Given the description of an element on the screen output the (x, y) to click on. 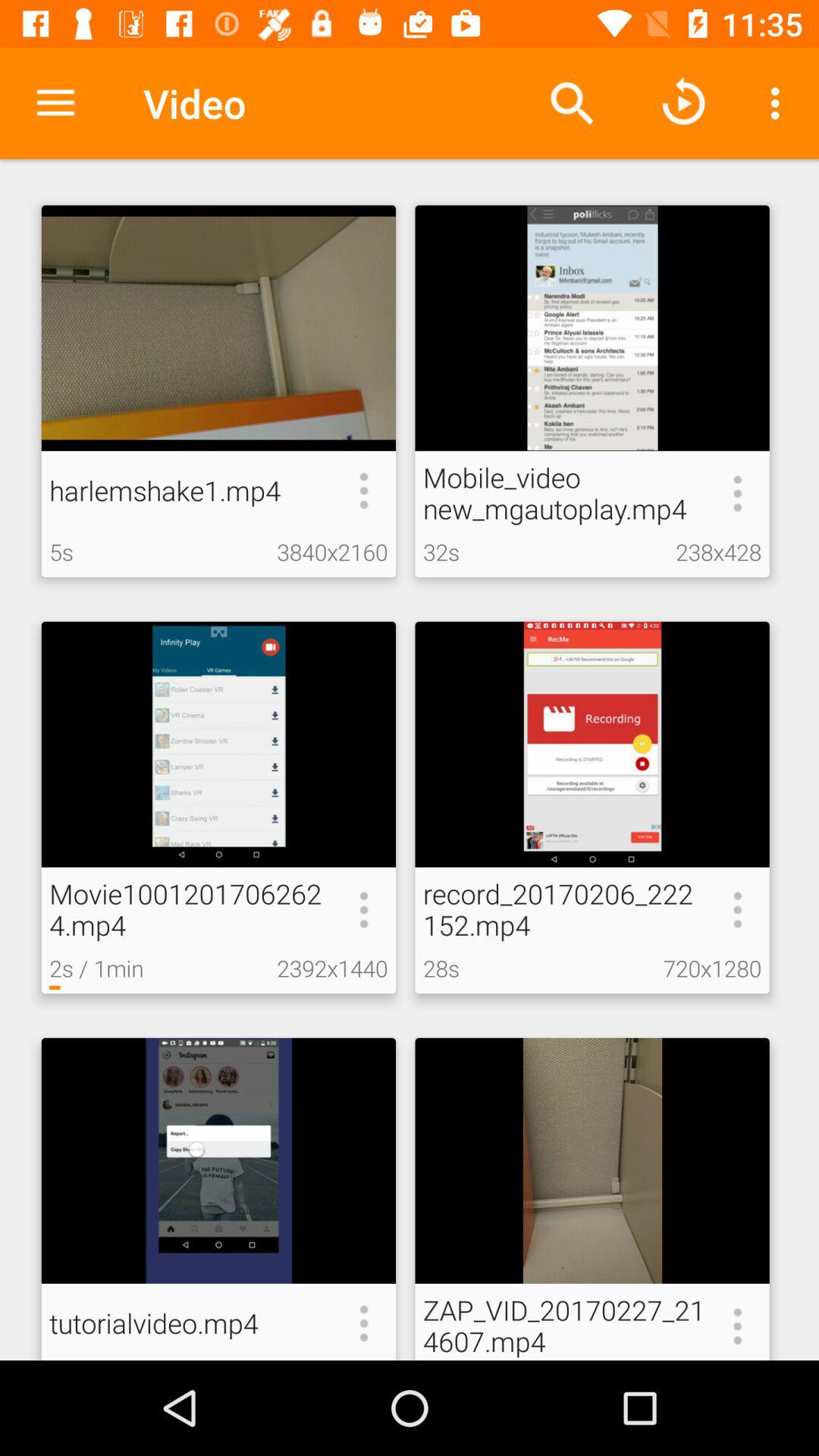
open the icon next to video (55, 103)
